Given the description of an element on the screen output the (x, y) to click on. 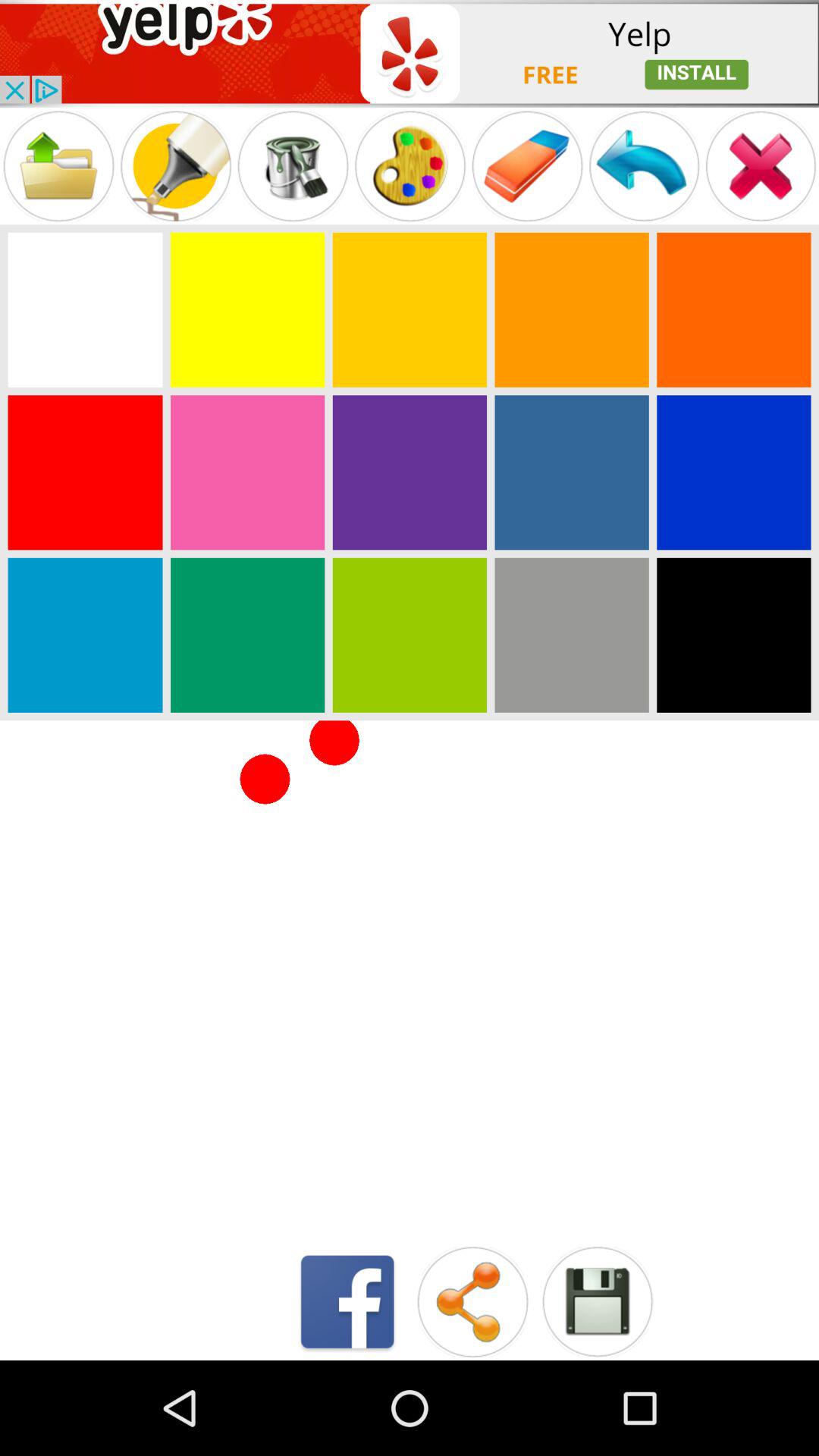
use pen (175, 165)
